Given the description of an element on the screen output the (x, y) to click on. 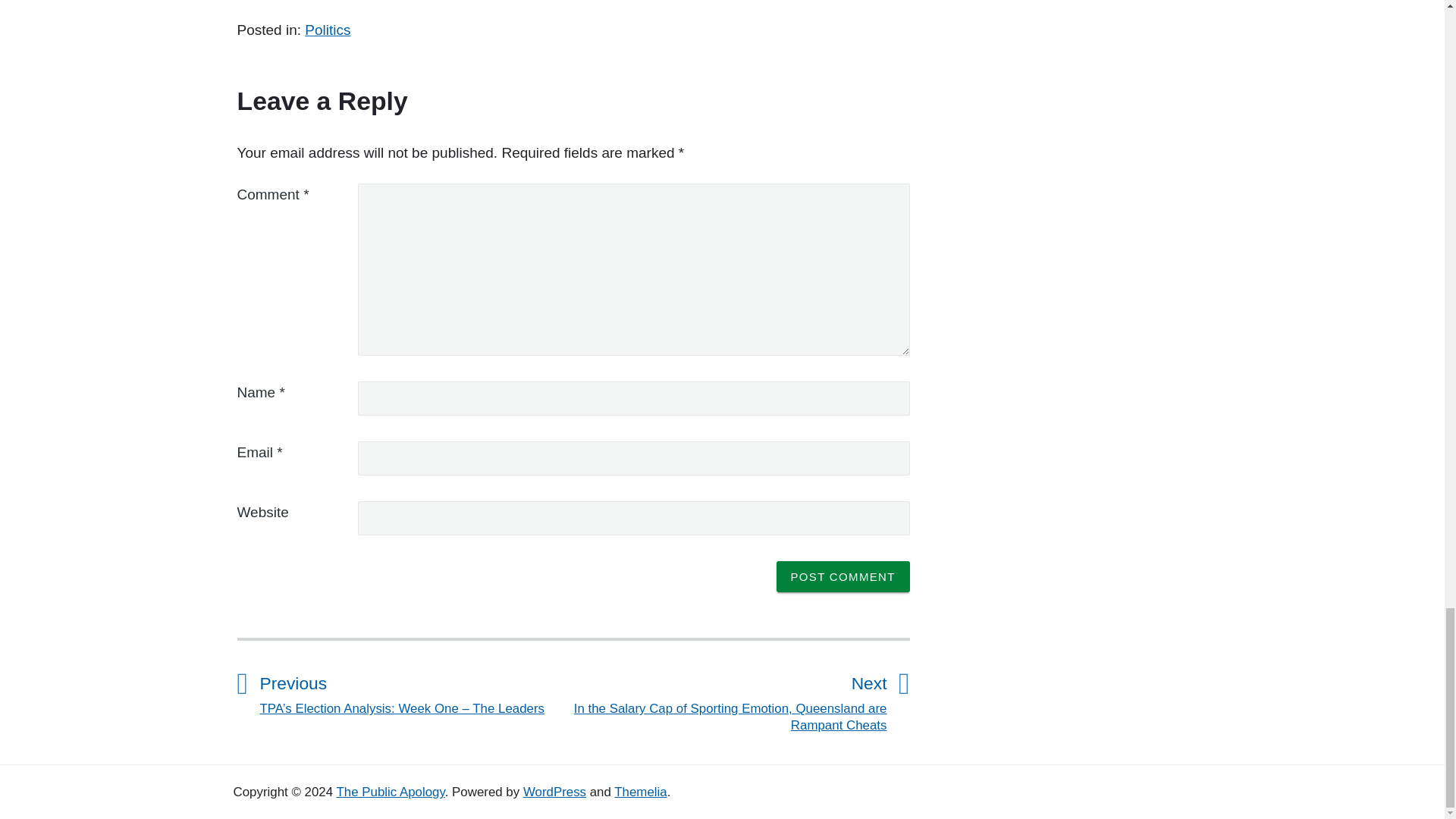
Politics (327, 29)
Post Comment (843, 576)
Post Comment (843, 576)
